Given the description of an element on the screen output the (x, y) to click on. 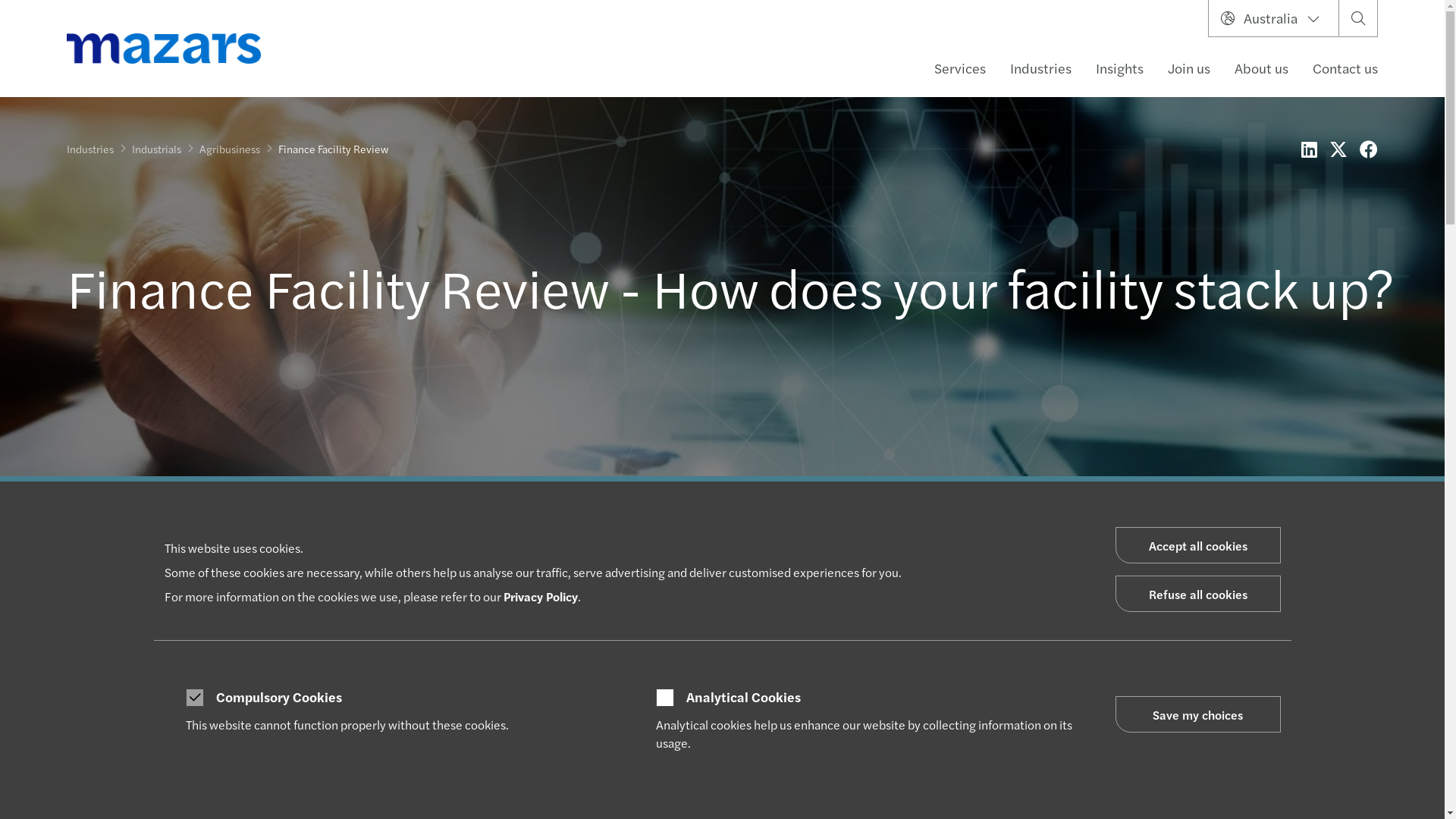
Industries Element type: text (1040, 68)
Industrials Element type: text (156, 148)
Save my choices Element type: text (1197, 714)
Share on Twitter Element type: hover (1338, 148)
Services Element type: text (959, 68)
Refuse all cookies Element type: text (1197, 593)
Industries Element type: text (89, 148)
Insights Element type: text (1119, 68)
Accept all cookies Element type: text (1197, 545)
Share on LinkedIn Element type: hover (1309, 148)
Privacy Policy Element type: text (540, 596)
Australia Element type: text (1273, 18)
Share on Facebook Element type: hover (1368, 148)
Agribusiness Element type: text (229, 148)
Join us Element type: text (1188, 68)
